Given the description of an element on the screen output the (x, y) to click on. 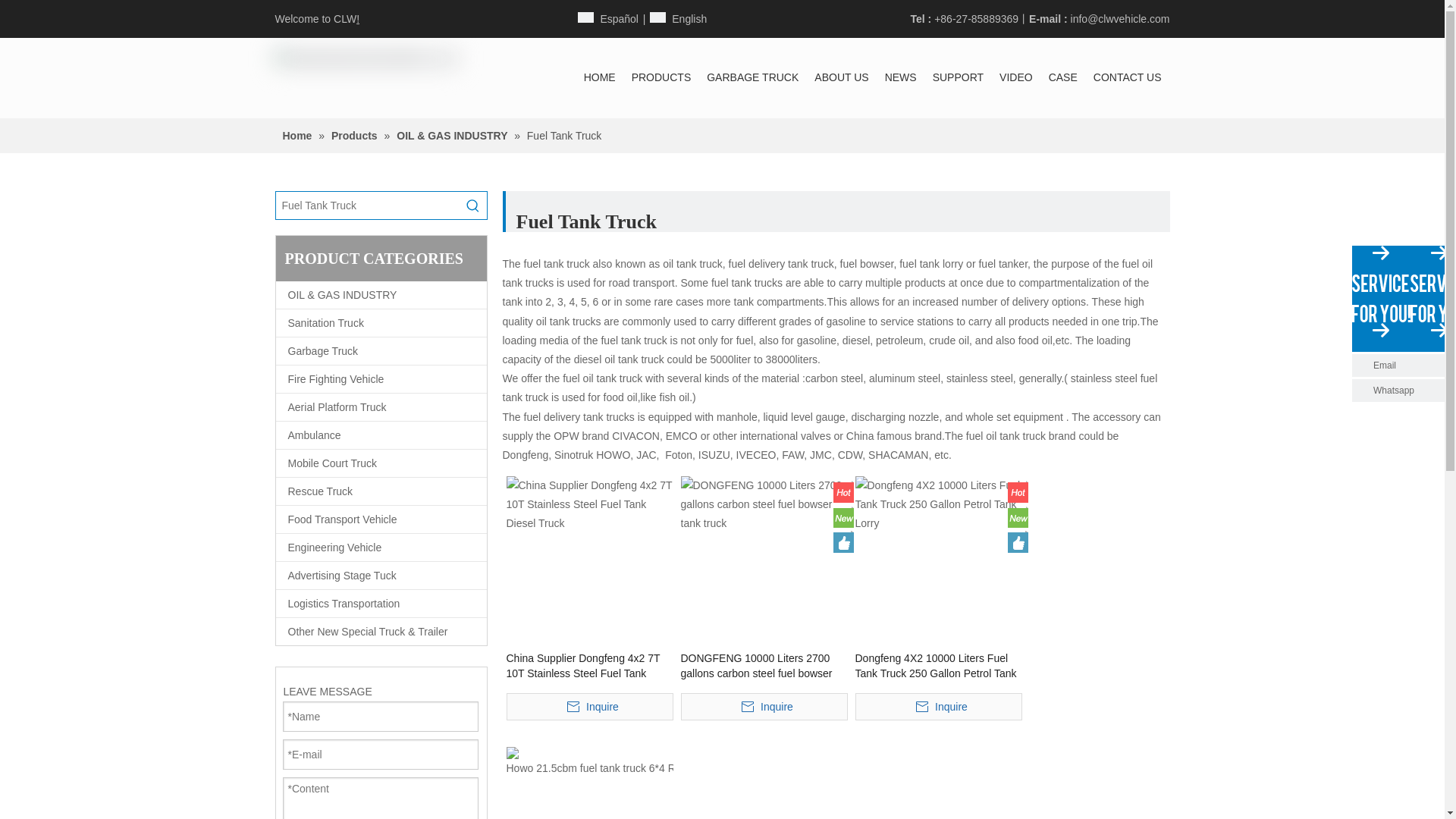
GARBAGE TRUCK (752, 77)
English (677, 18)
CASE (1062, 77)
CONTACT US (1127, 77)
HOME (599, 77)
PRODUCTS (661, 77)
ABOUT US (841, 77)
Sanitation Truck (381, 322)
NEWS (900, 77)
VIDEO (1016, 77)
